Given the description of an element on the screen output the (x, y) to click on. 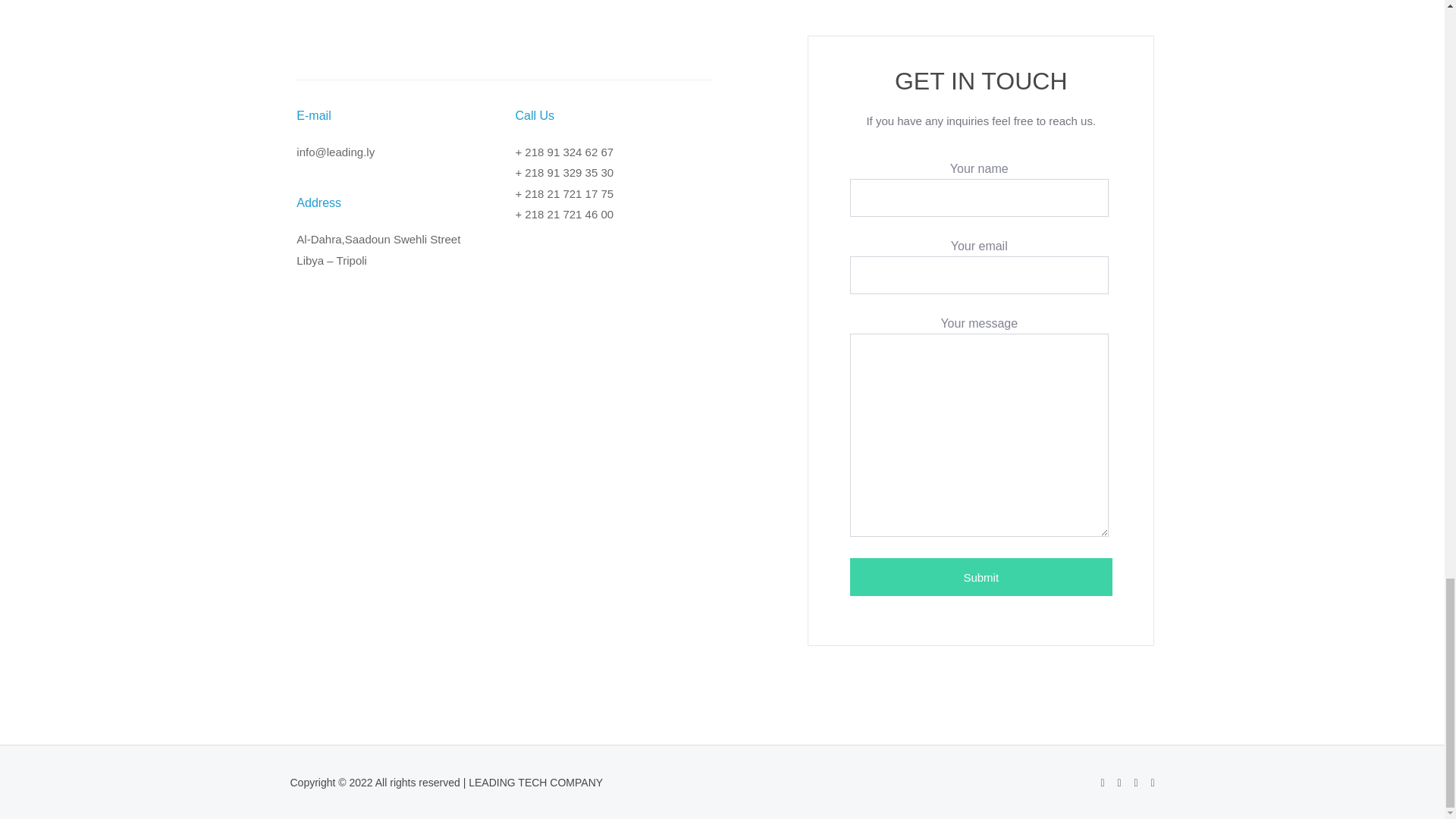
Submit (981, 576)
Submit (981, 576)
